Given the description of an element on the screen output the (x, y) to click on. 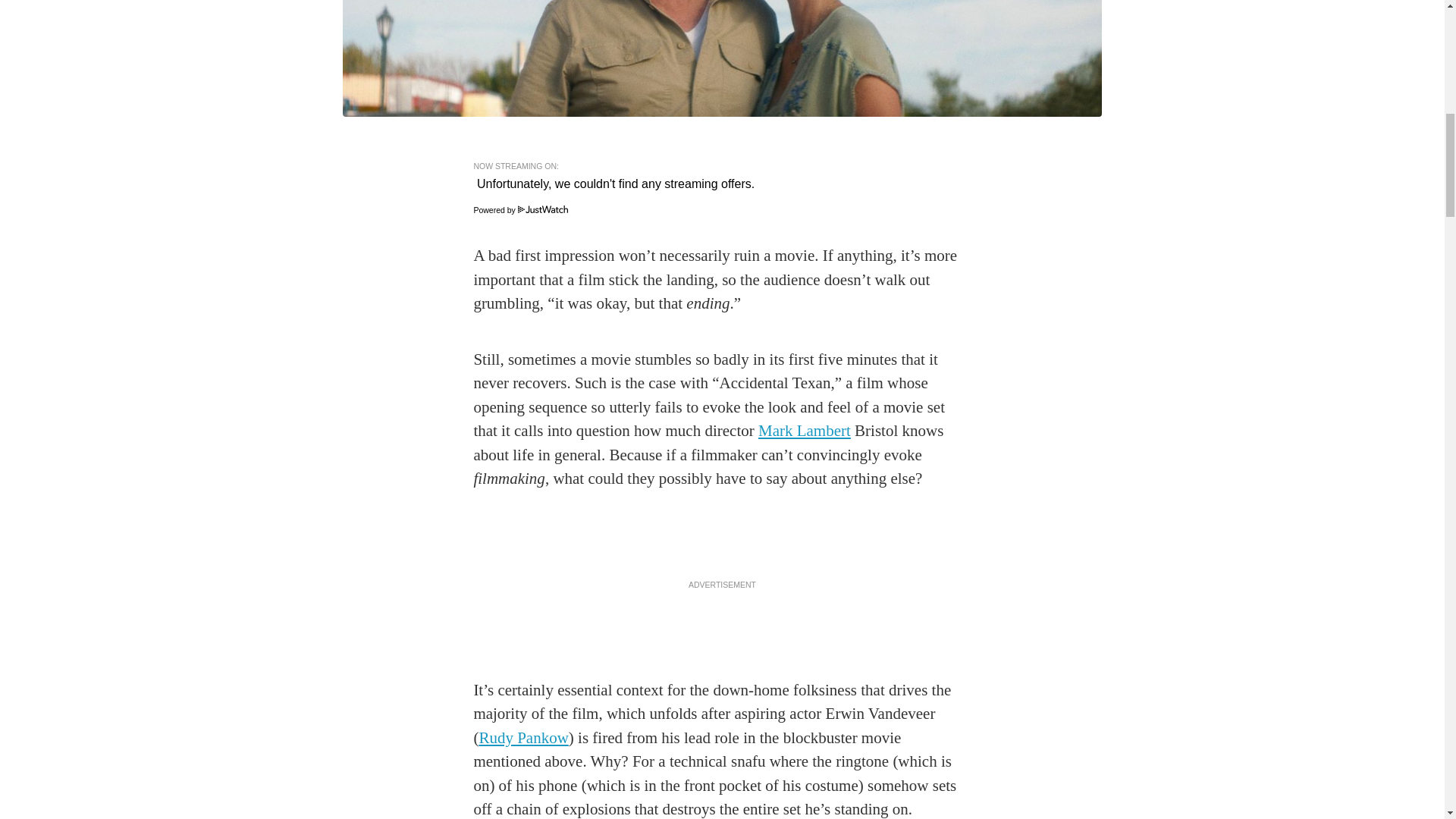
Rudy Pankow (523, 737)
Mark Lambert (804, 430)
Powered by JustWatch (520, 209)
